Given the description of an element on the screen output the (x, y) to click on. 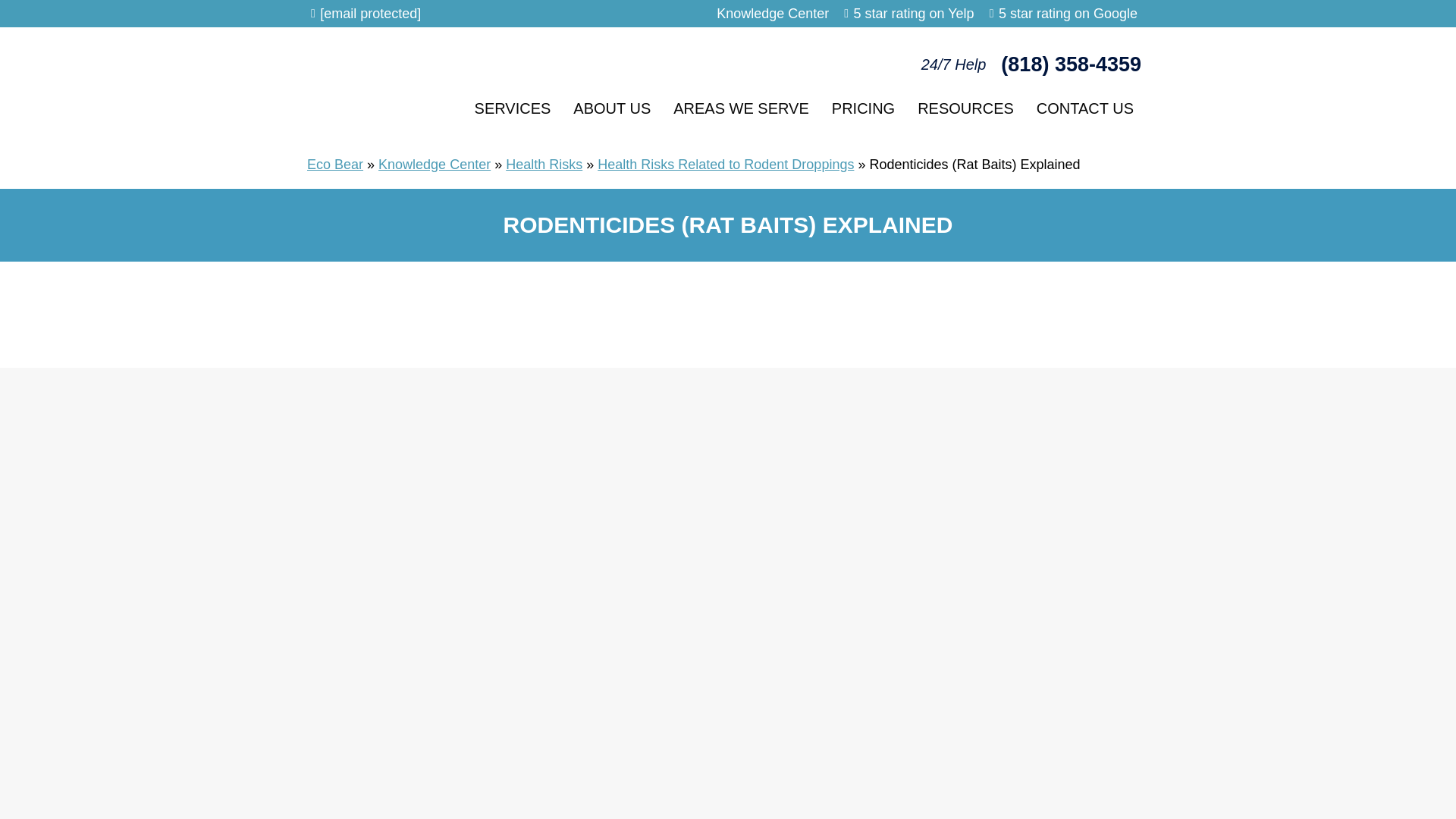
Knowledge Center (772, 13)
5 star rating on Yelp (913, 13)
ABOUT US (612, 108)
SERVICES (512, 108)
5 star rating on Google (1067, 13)
RESOURCES (965, 108)
AREAS WE SERVE (741, 108)
CONTACT US (1084, 108)
PRICING (863, 108)
